Given the description of an element on the screen output the (x, y) to click on. 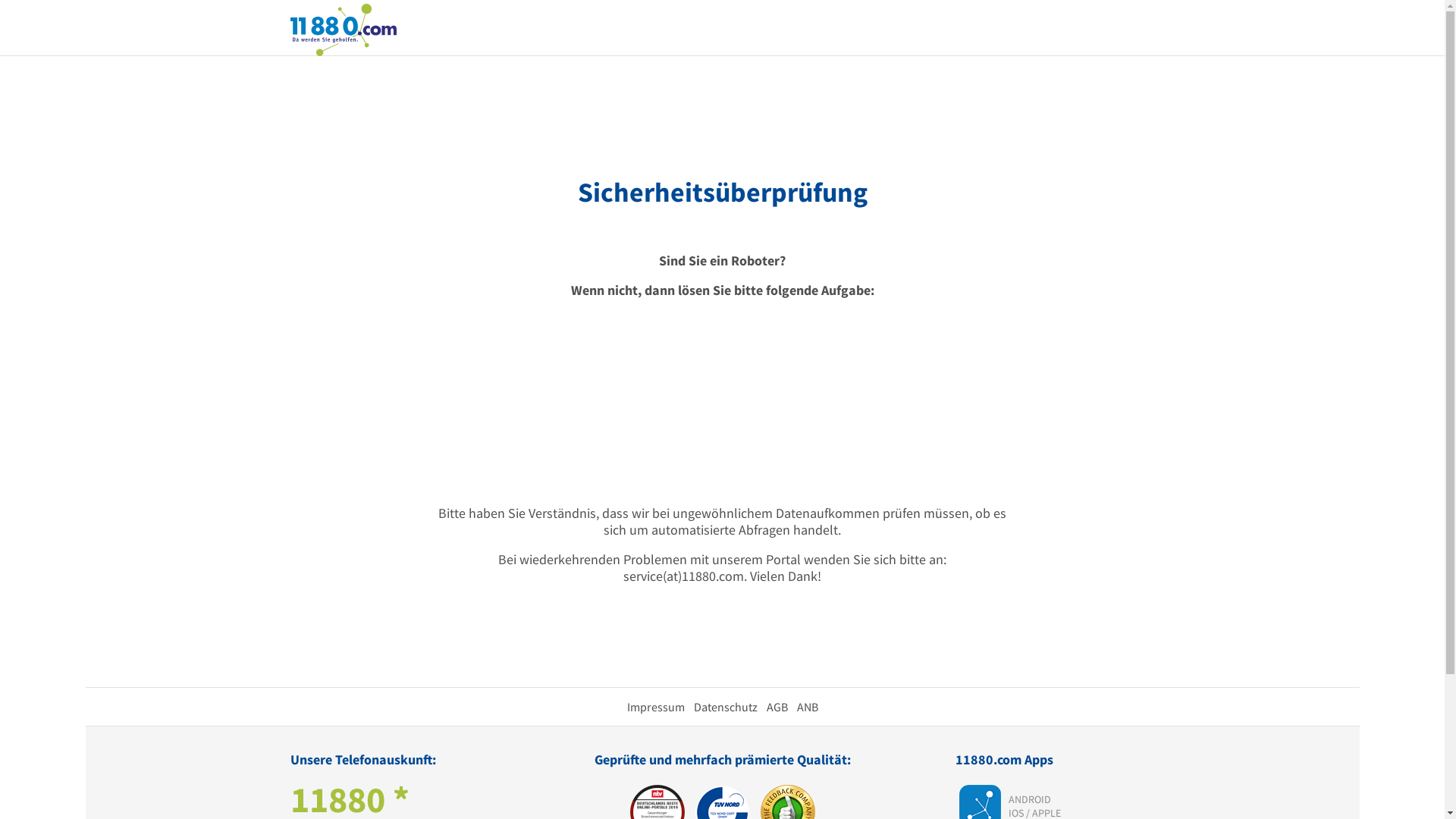
AGB Element type: text (776, 706)
11880.com Element type: hover (342, 28)
Impressum Element type: text (655, 706)
ANB Element type: text (806, 706)
Datenschutz Element type: text (724, 706)
